Given the description of an element on the screen output the (x, y) to click on. 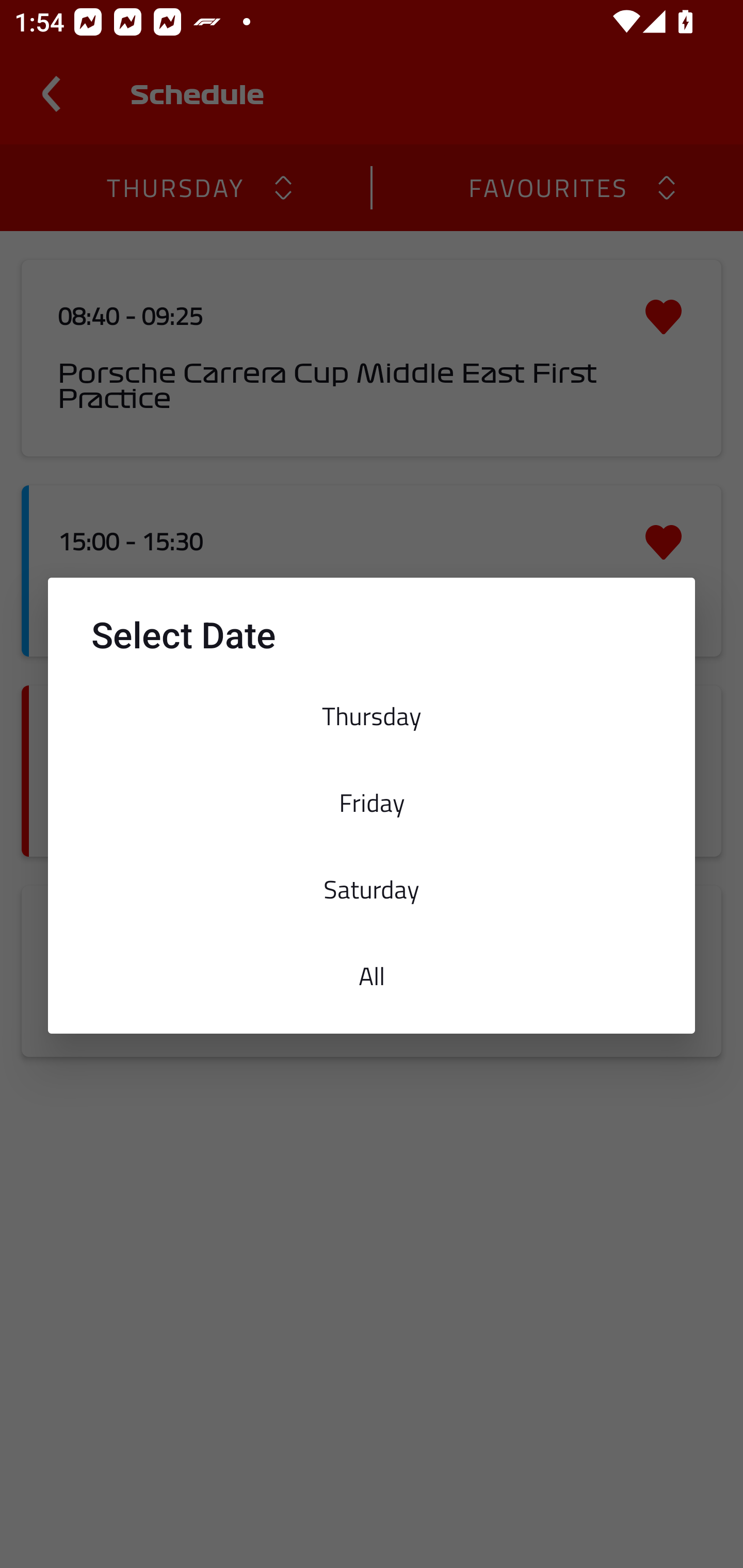
Thursday (371, 715)
Friday (371, 801)
Saturday (371, 888)
All (371, 975)
